Given the description of an element on the screen output the (x, y) to click on. 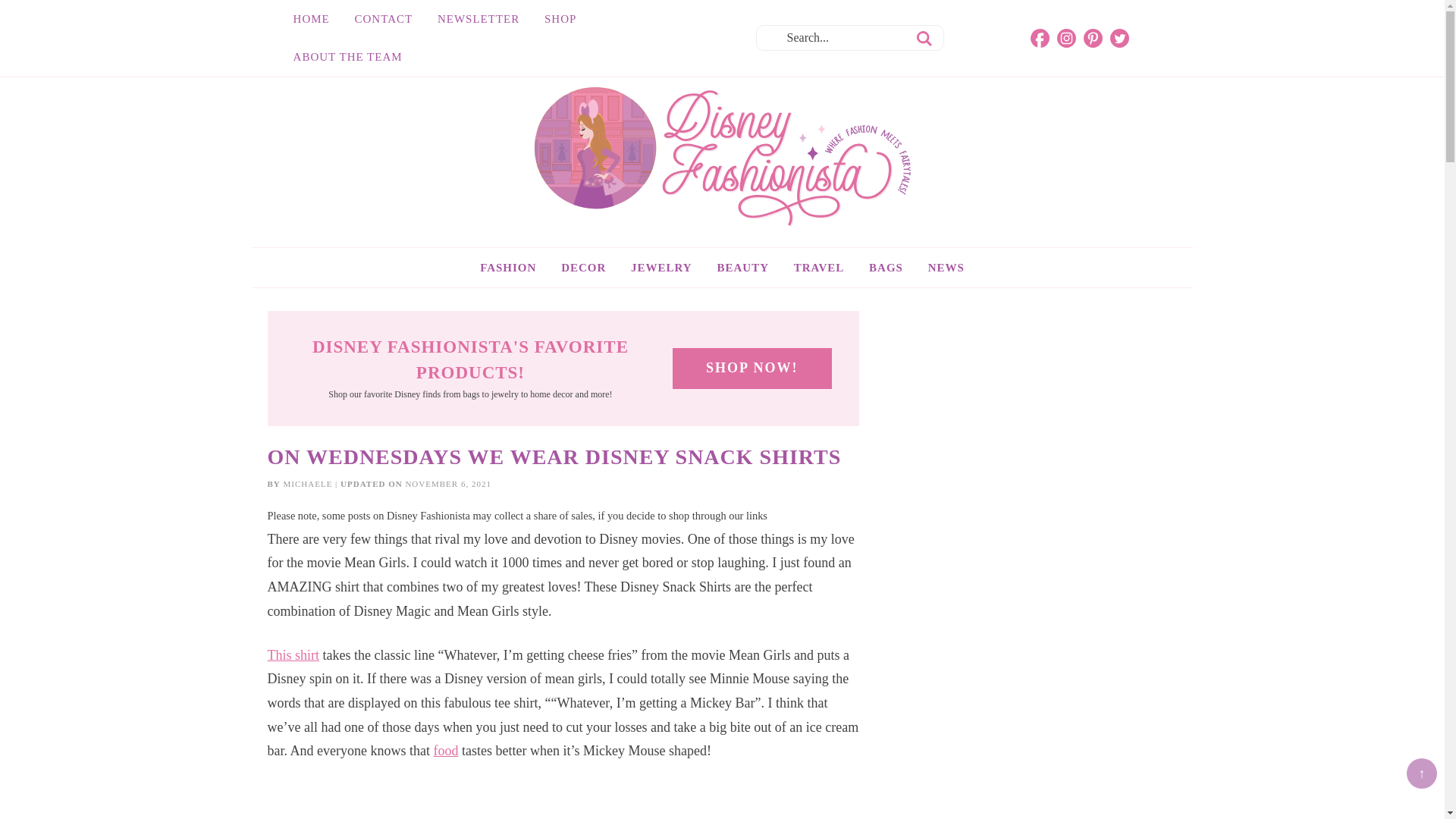
The Latest News! (946, 267)
CONTACT (383, 18)
HOME (311, 18)
NEWSLETTER (477, 18)
Want to go to Disney? (819, 267)
ABOUT THE TEAM (347, 56)
SHOP (560, 18)
